Given the description of an element on the screen output the (x, y) to click on. 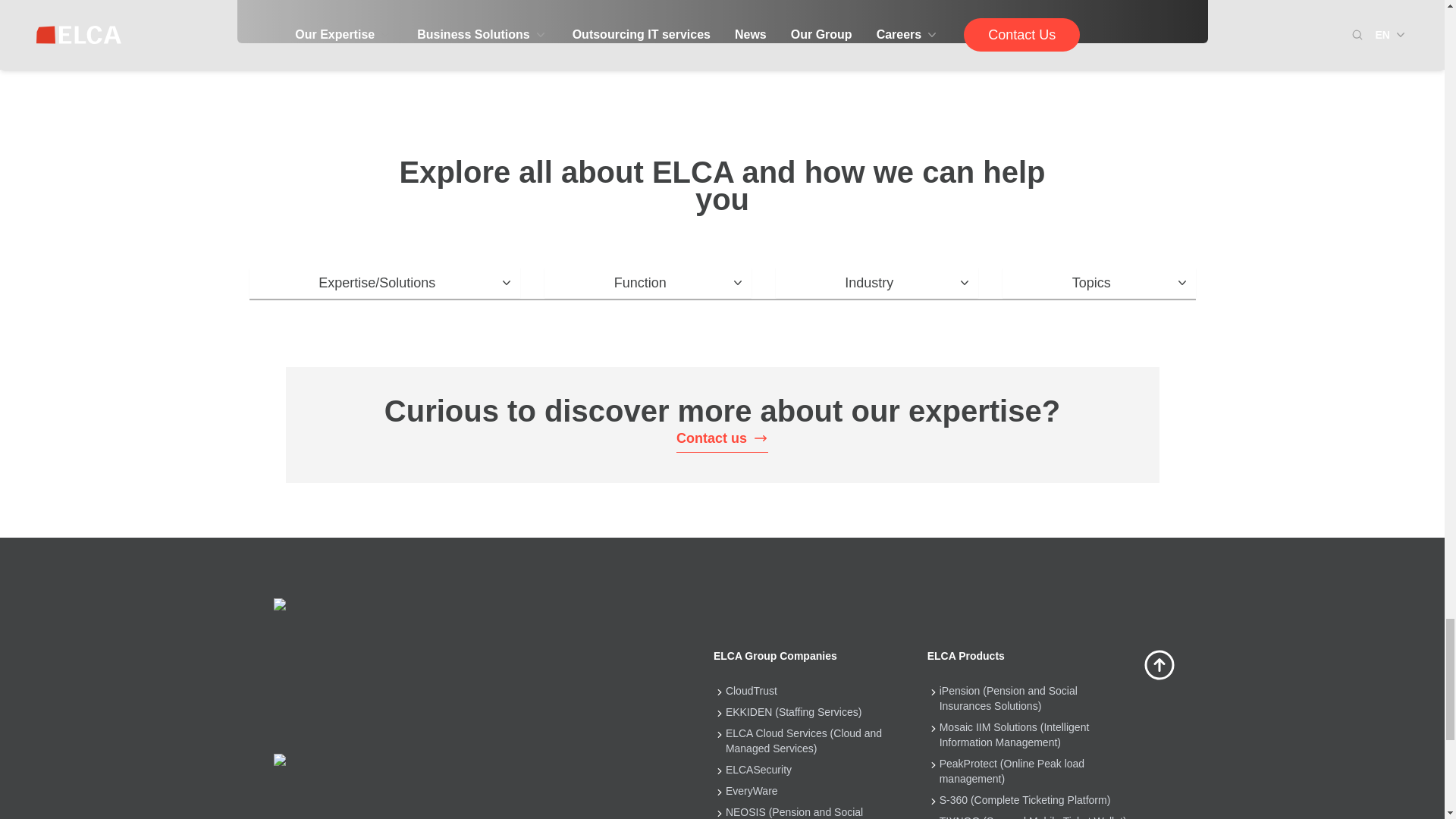
Function (647, 282)
CloudTrust (751, 690)
Contact us (722, 438)
EveryWare (751, 790)
Topics (1099, 282)
Industry (877, 282)
ELCASecurity (758, 769)
